Given the description of an element on the screen output the (x, y) to click on. 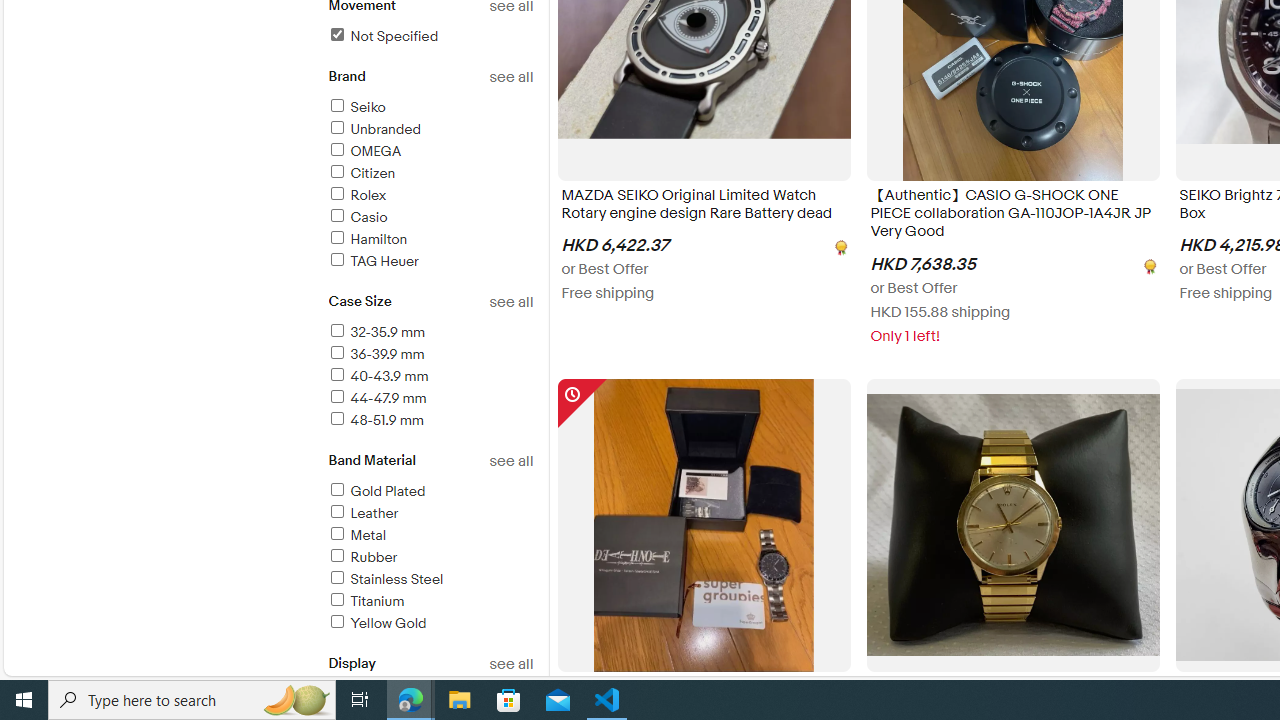
Leather (362, 513)
TAG Heuer (430, 262)
Gold Plated (376, 491)
OMEGA (430, 152)
Leather (430, 514)
Rolex (356, 195)
Stainless Steel (385, 579)
Titanium (430, 602)
32-35.9 mm (376, 332)
48-51.9 mm (430, 421)
See all display refinements (510, 664)
Rubber (362, 556)
